Given the description of an element on the screen output the (x, y) to click on. 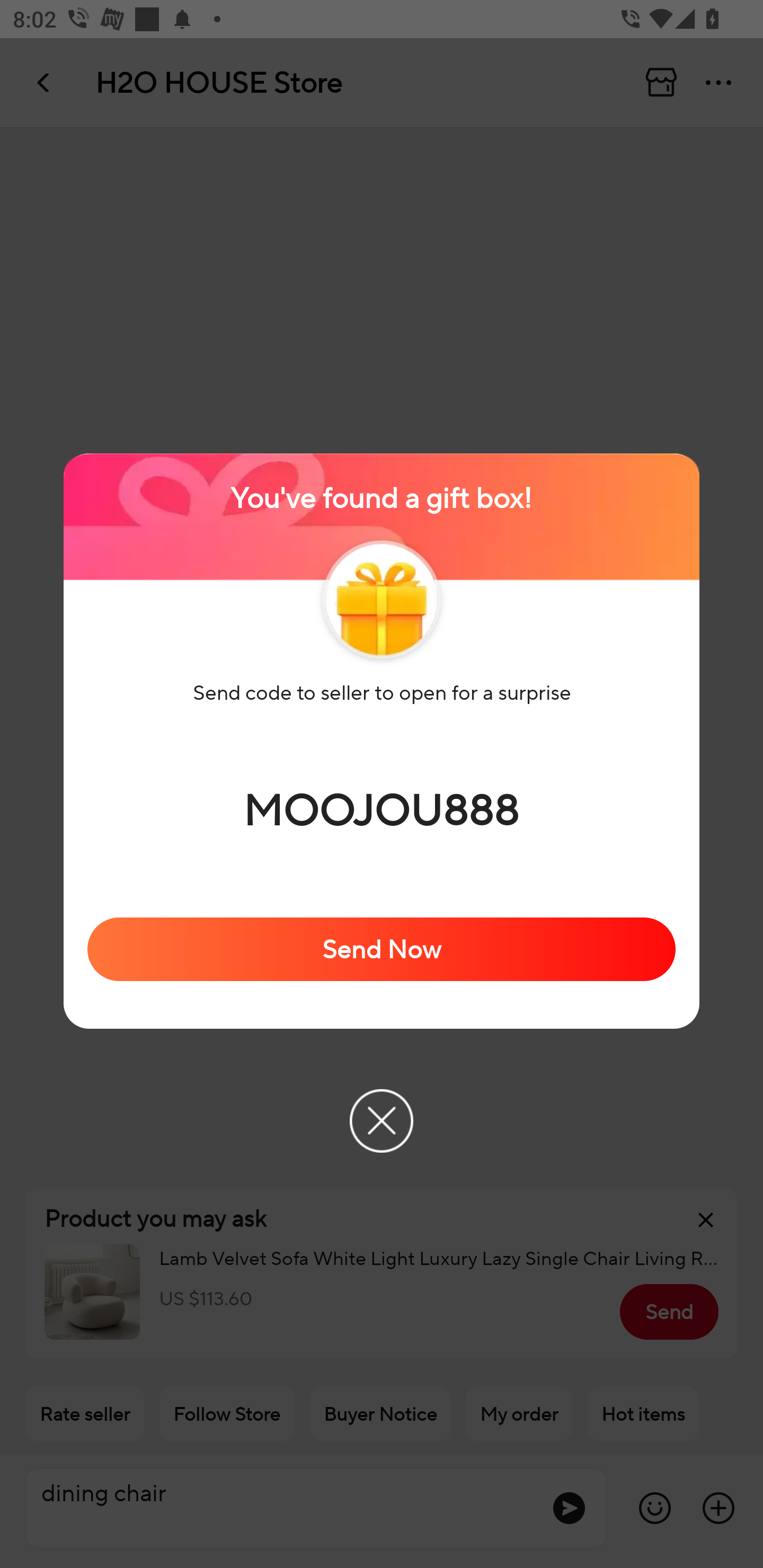
Send Now (381, 949)
